Given the description of an element on the screen output the (x, y) to click on. 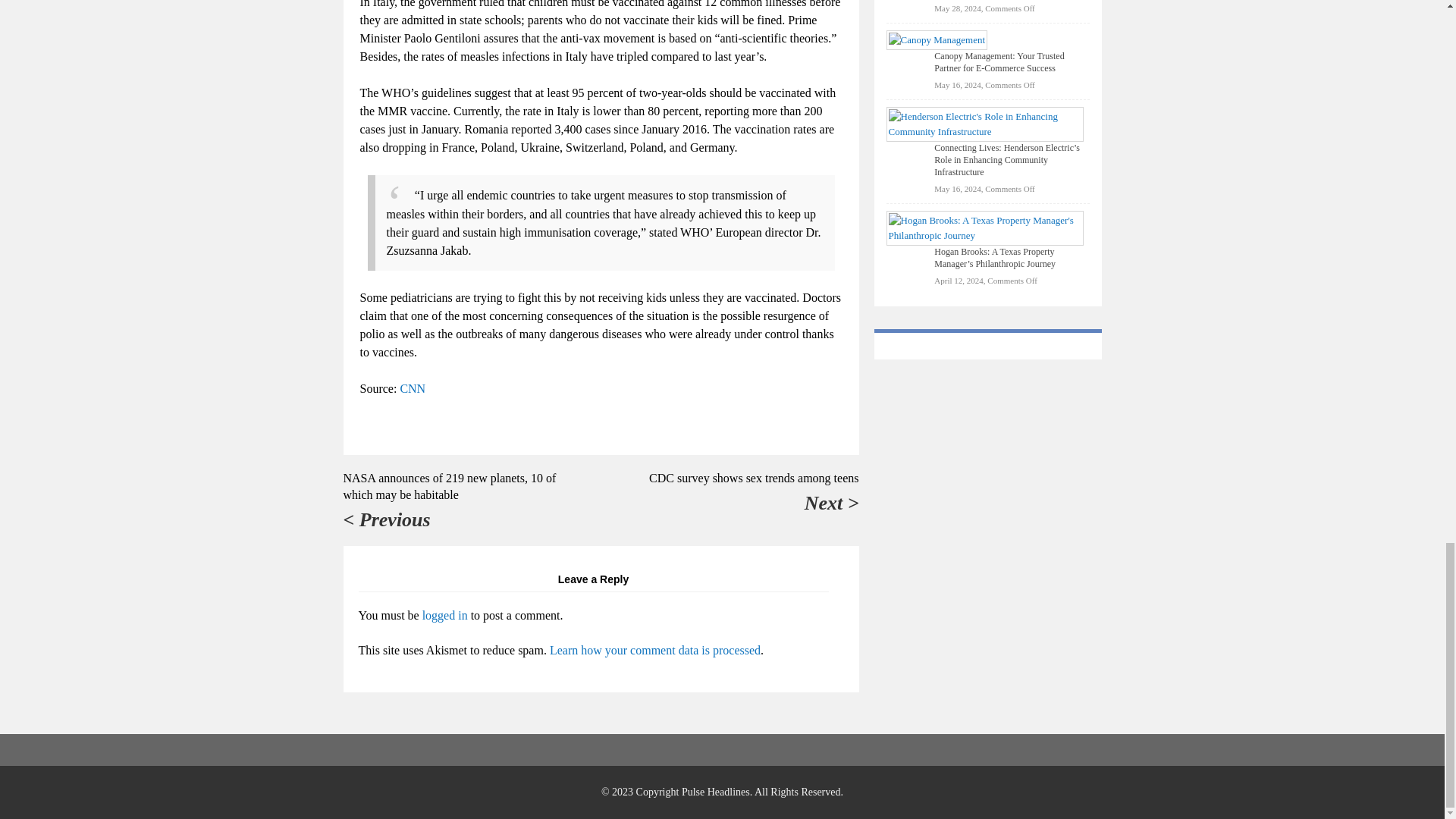
CDC survey shows sex trends among teens (754, 477)
Learn how your comment data is processed (655, 649)
CNN (411, 388)
logged in (444, 615)
